Given the description of an element on the screen output the (x, y) to click on. 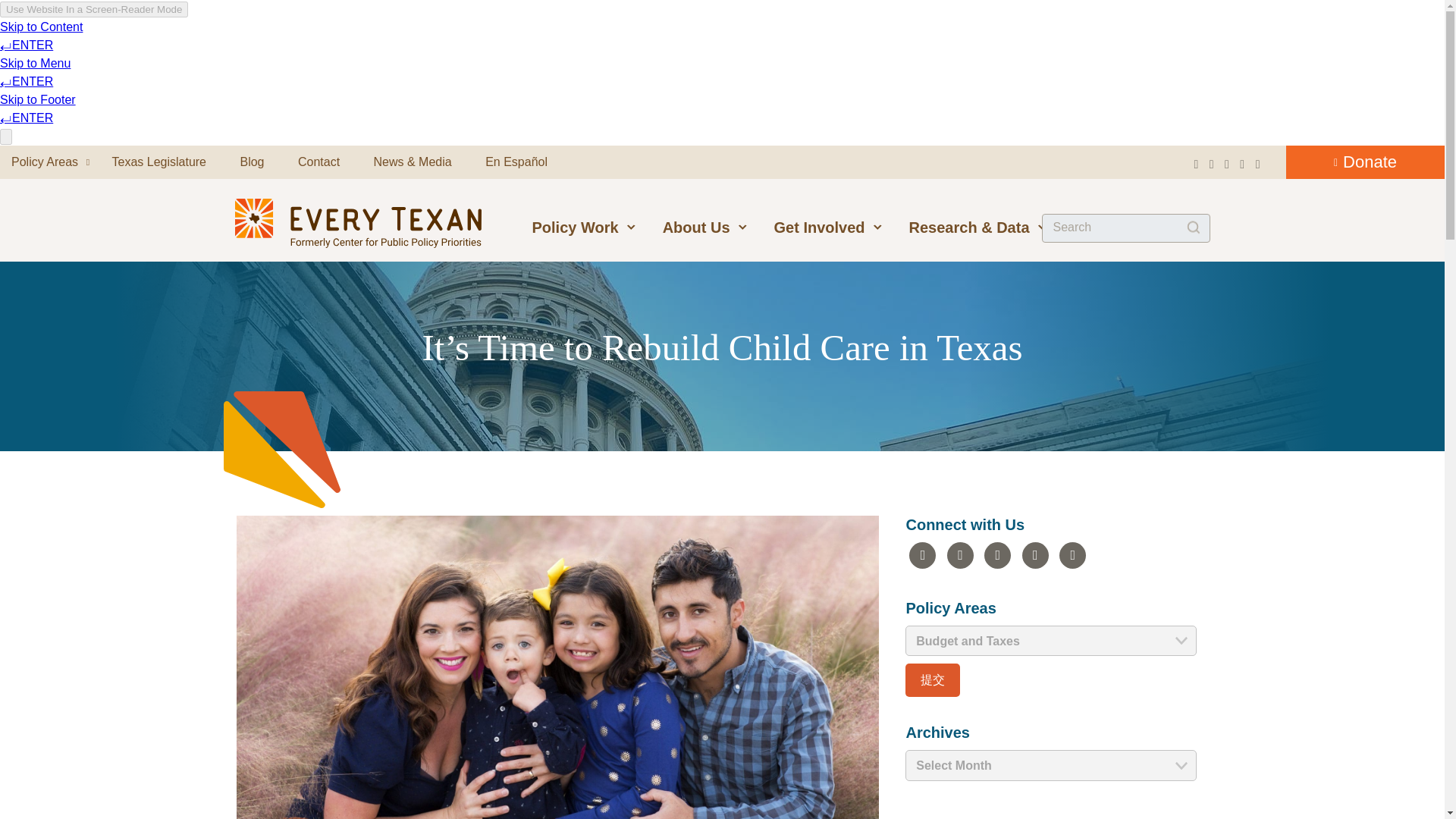
Social Icon (960, 555)
Social Icon (1035, 555)
Policy Work (583, 227)
Social Icon (922, 555)
Get Involved (828, 227)
Social Icon (997, 555)
Texas Legislature (159, 162)
About Us (705, 227)
Blog (251, 162)
Social Icon (1072, 555)
Policy Areas (44, 162)
Contact (318, 162)
